Given the description of an element on the screen output the (x, y) to click on. 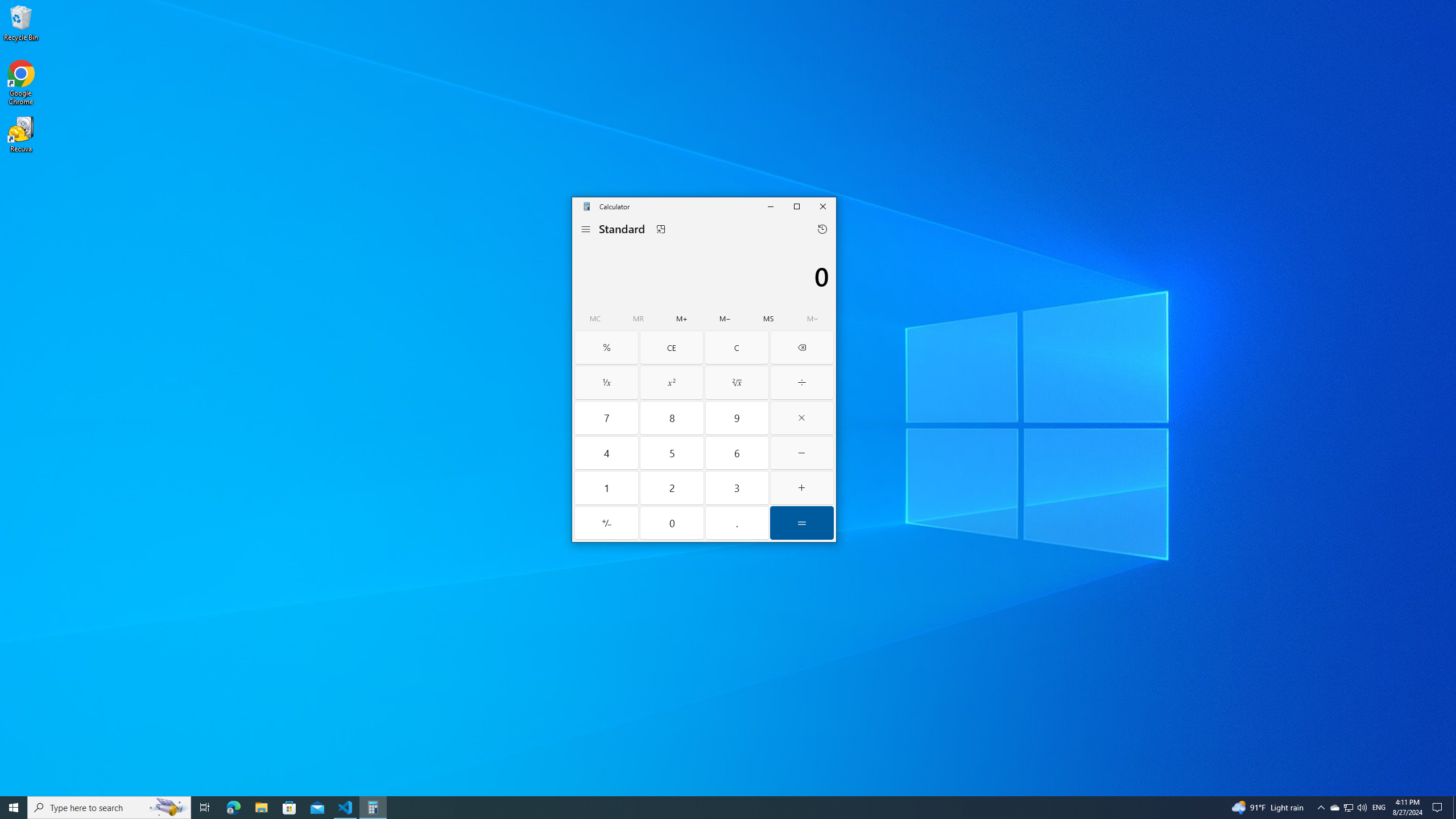
Search highlights icon opens search home window (167, 807)
Task View (204, 807)
One (607, 487)
Seven (607, 417)
Clear all memory (595, 318)
Open history flyout (822, 229)
Maximize Calculator (796, 206)
Keep on top (660, 229)
Plus (802, 487)
Minimize Calculator (770, 206)
Memory store (768, 318)
Reciprocal (607, 382)
